Given the description of an element on the screen output the (x, y) to click on. 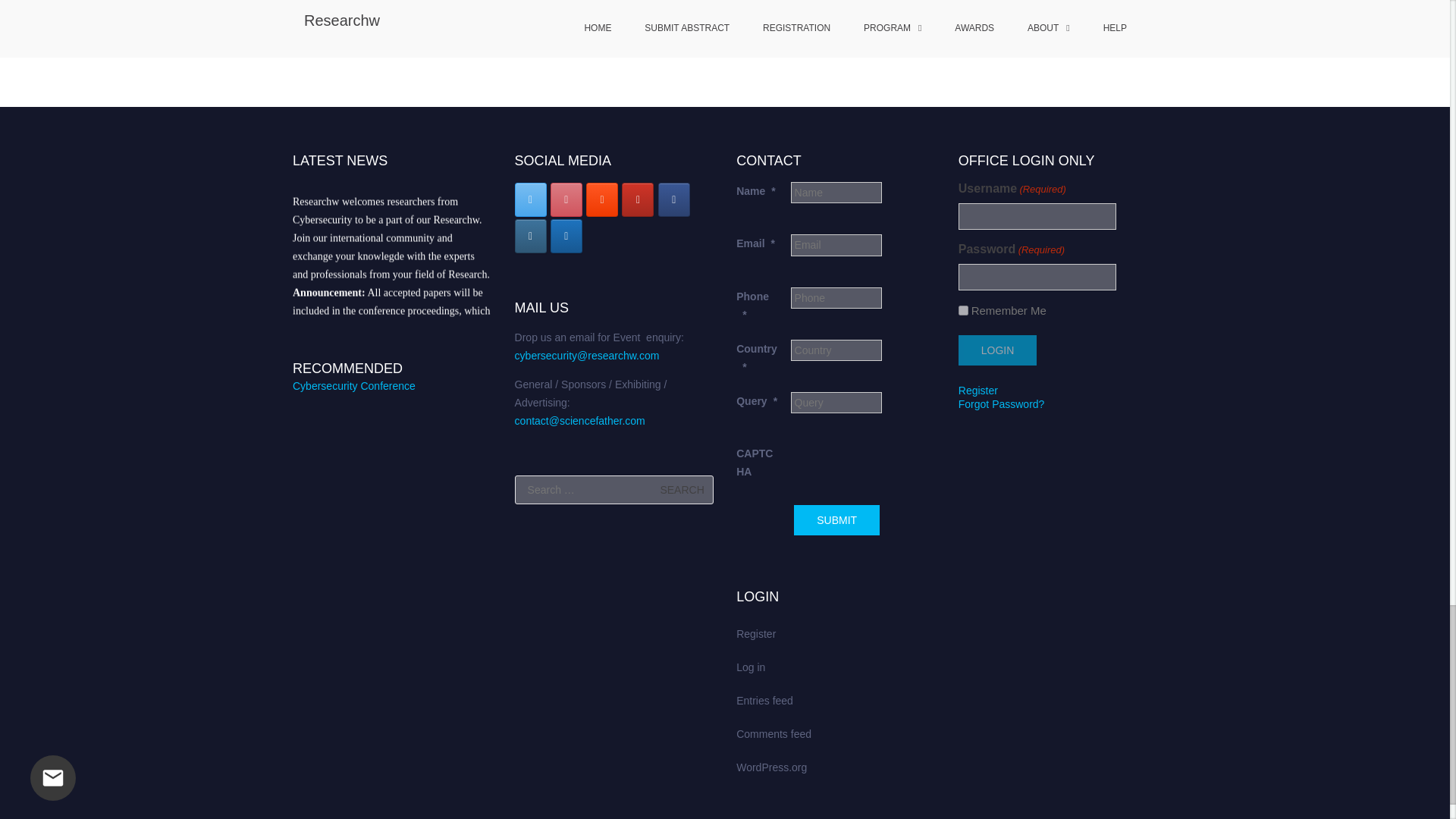
Researchw on Youtube (637, 199)
Researchw on Wordpress (566, 236)
Researchw on Instagram (531, 236)
Researchw on Blogger B (601, 199)
Search (681, 489)
Login (997, 349)
Researchw on Pinterest (566, 199)
1 (963, 310)
Search (681, 489)
Researchw on X Twitter (531, 199)
Forgot Password? (1001, 404)
Register (977, 390)
Researchw on Facebook (674, 199)
Submit (836, 520)
